Given the description of an element on the screen output the (x, y) to click on. 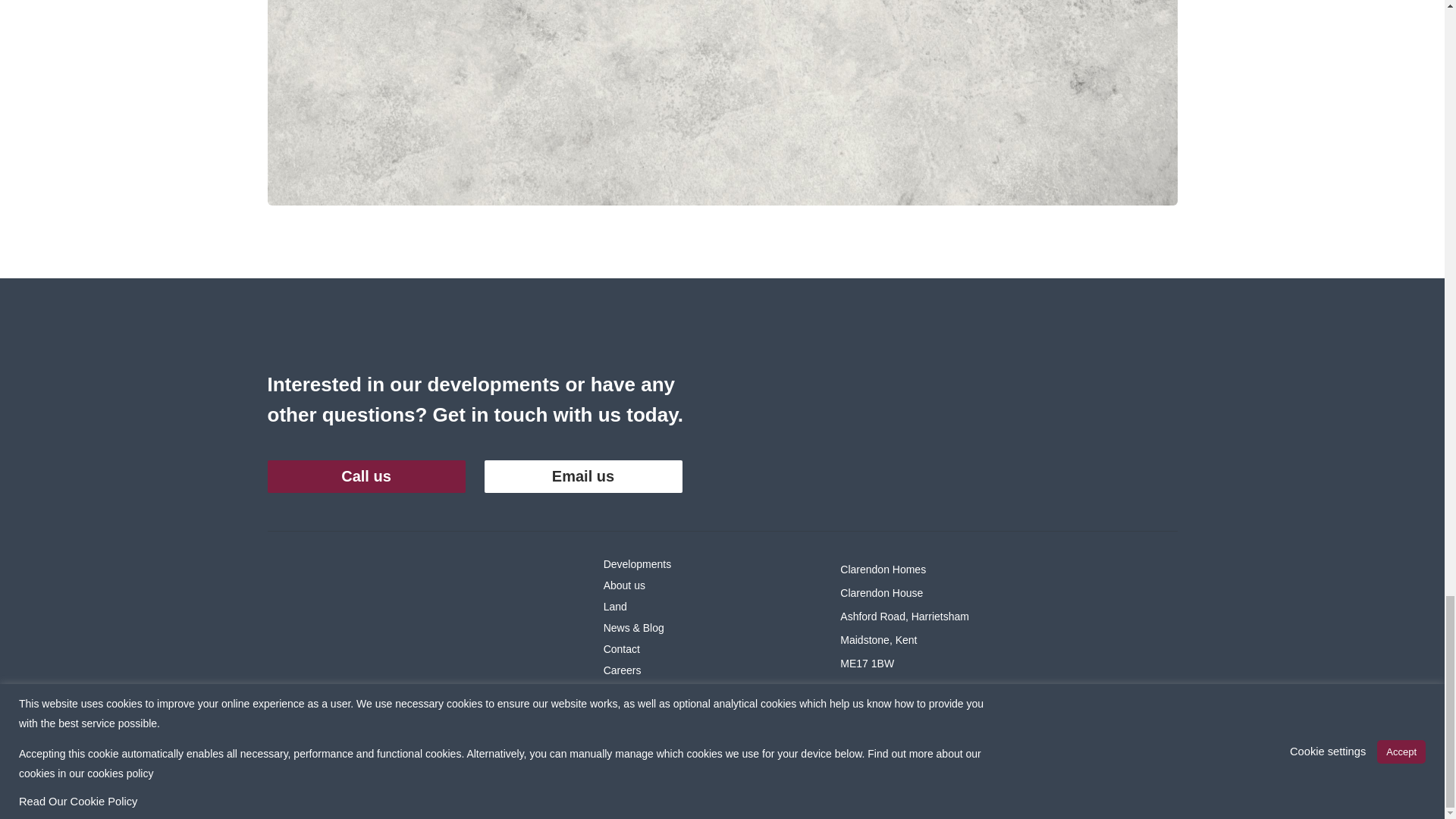
Form 1 (854, 76)
